Given the description of an element on the screen output the (x, y) to click on. 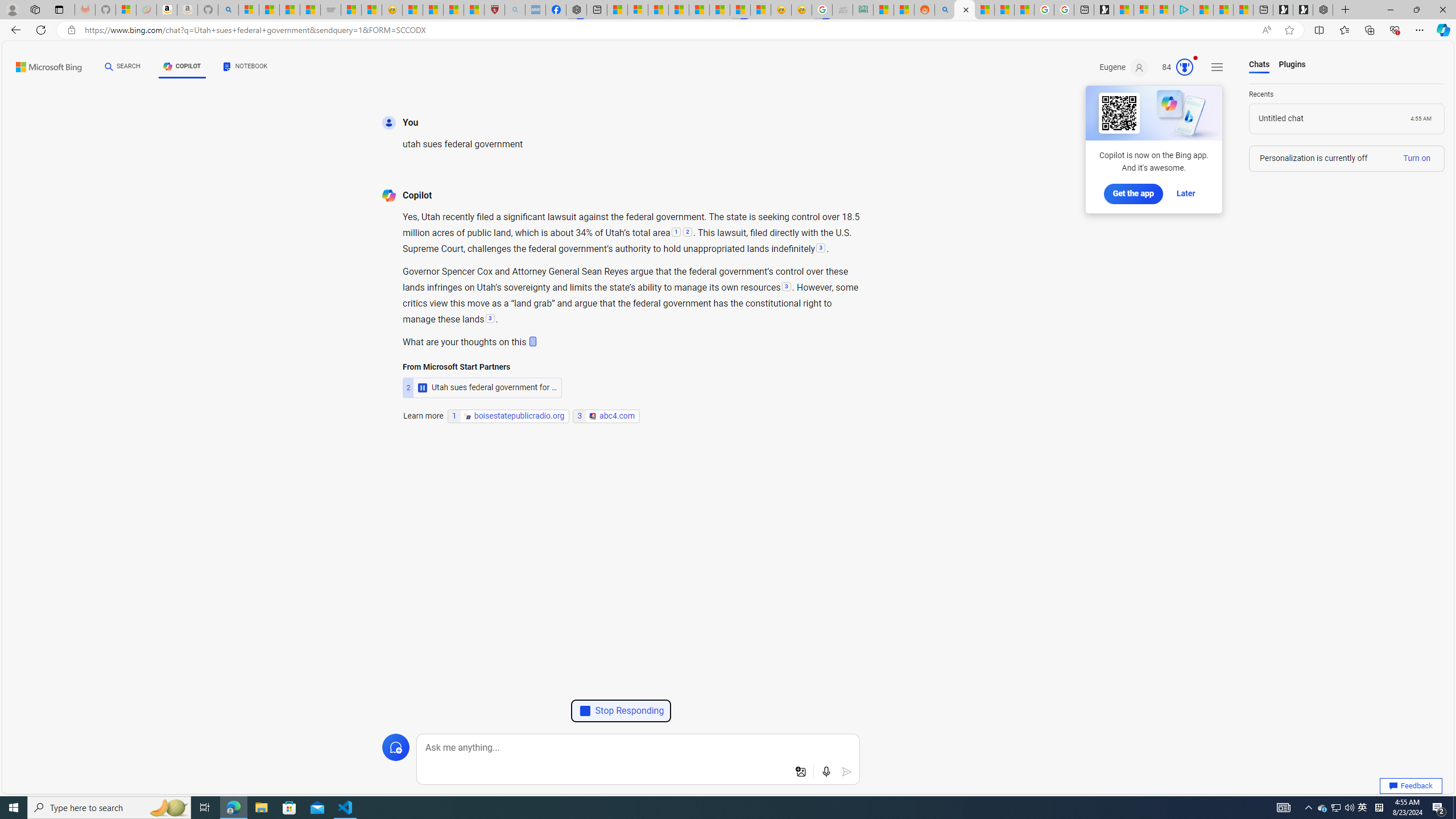
Add an image to search (800, 771)
NOTEBOOK (245, 68)
NOTEBOOK (245, 66)
Plugins (1292, 65)
Eugene (1123, 67)
1:  (675, 232)
